Given the description of an element on the screen output the (x, y) to click on. 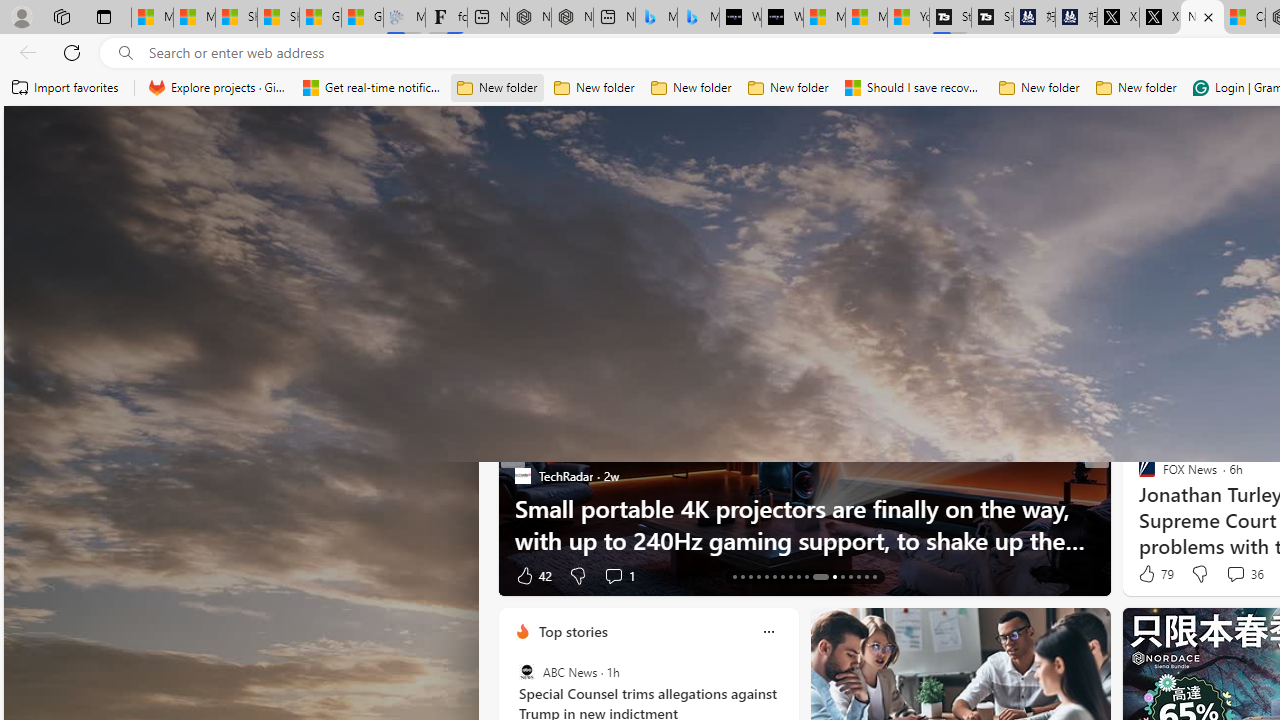
View comments 36 Comment (1234, 573)
Following (619, 267)
Gaming (945, 267)
Following (619, 265)
